Given the description of an element on the screen output the (x, y) to click on. 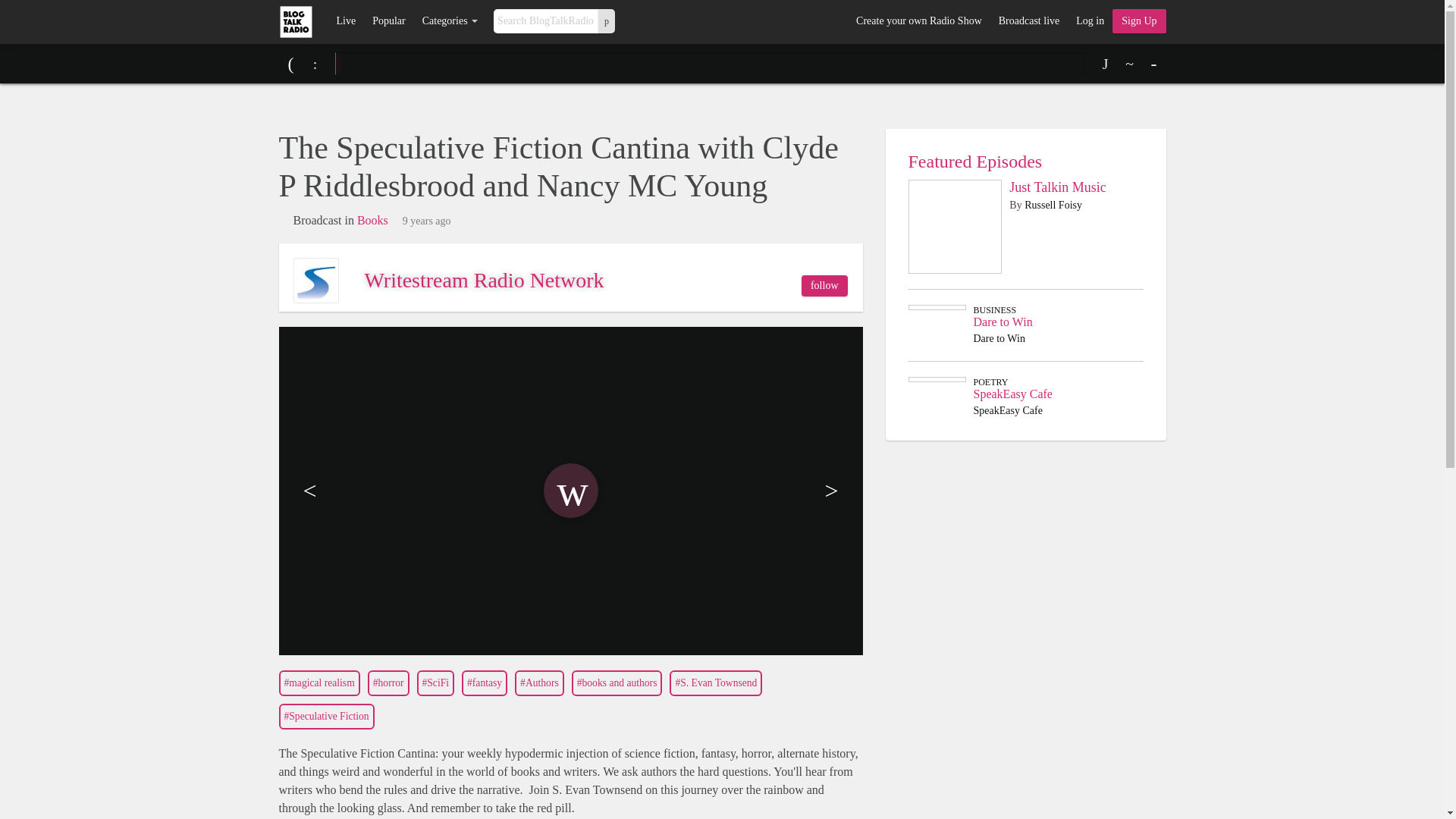
Broadcast live (1028, 20)
Create My Talk Show (1139, 21)
Popular (388, 20)
Categories (449, 20)
Live (345, 20)
Log in (1089, 20)
Follow Writestream Radio Network (824, 285)
Create your own Radio Show (918, 20)
Sign Up (1139, 21)
Embed this episode (1129, 63)
Sat, December 27, 2014 07:00 am (427, 221)
Download this episode (1105, 63)
